Given the description of an element on the screen output the (x, y) to click on. 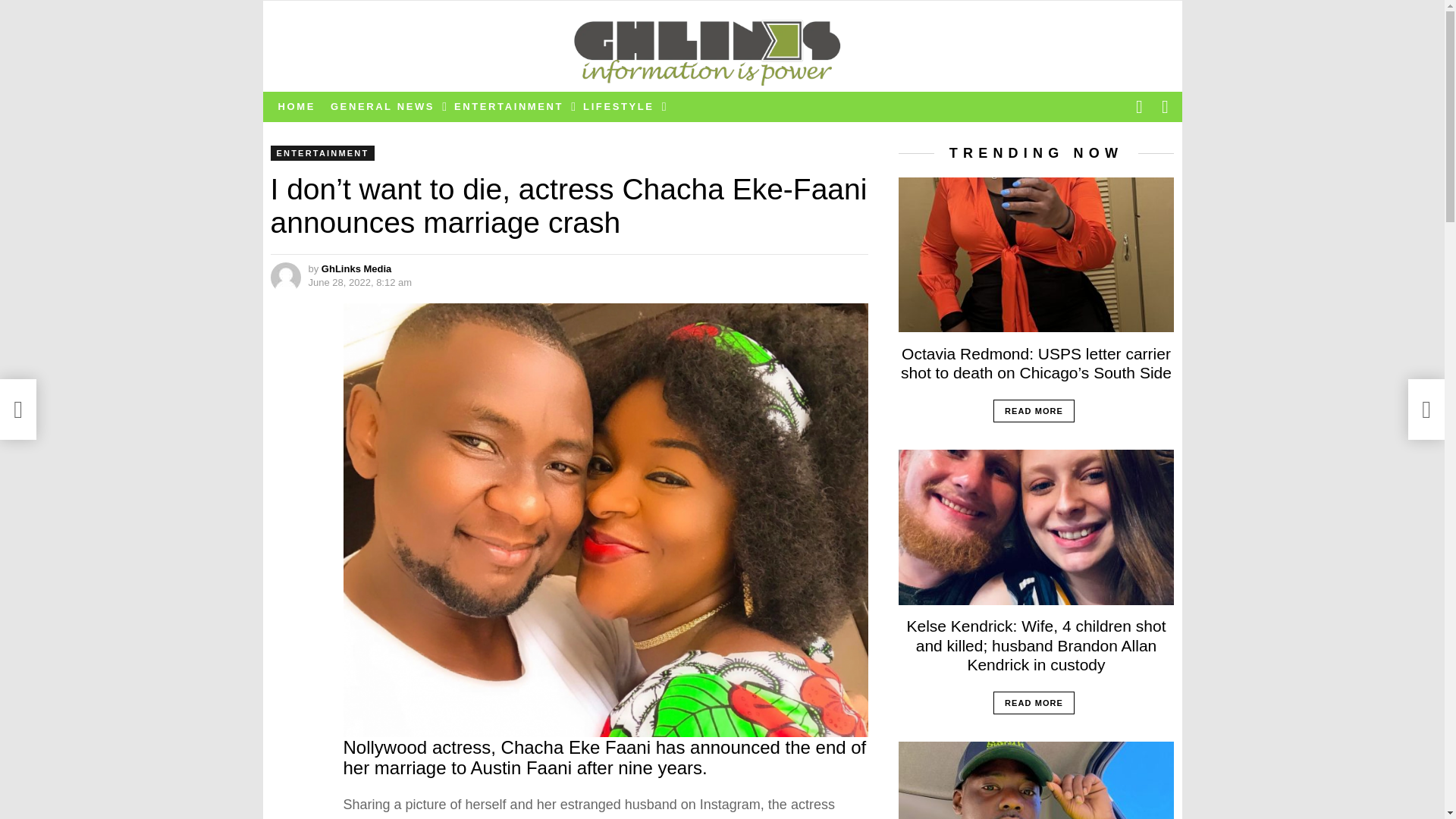
Posts by GhLinks Media (356, 268)
GENERAL NEWS (384, 106)
ENTERTAINMENT (510, 106)
ENTERTAINMENT (321, 152)
GhLinks Media (356, 268)
HOME (295, 106)
LIFESTYLE (620, 106)
